Given the description of an element on the screen output the (x, y) to click on. 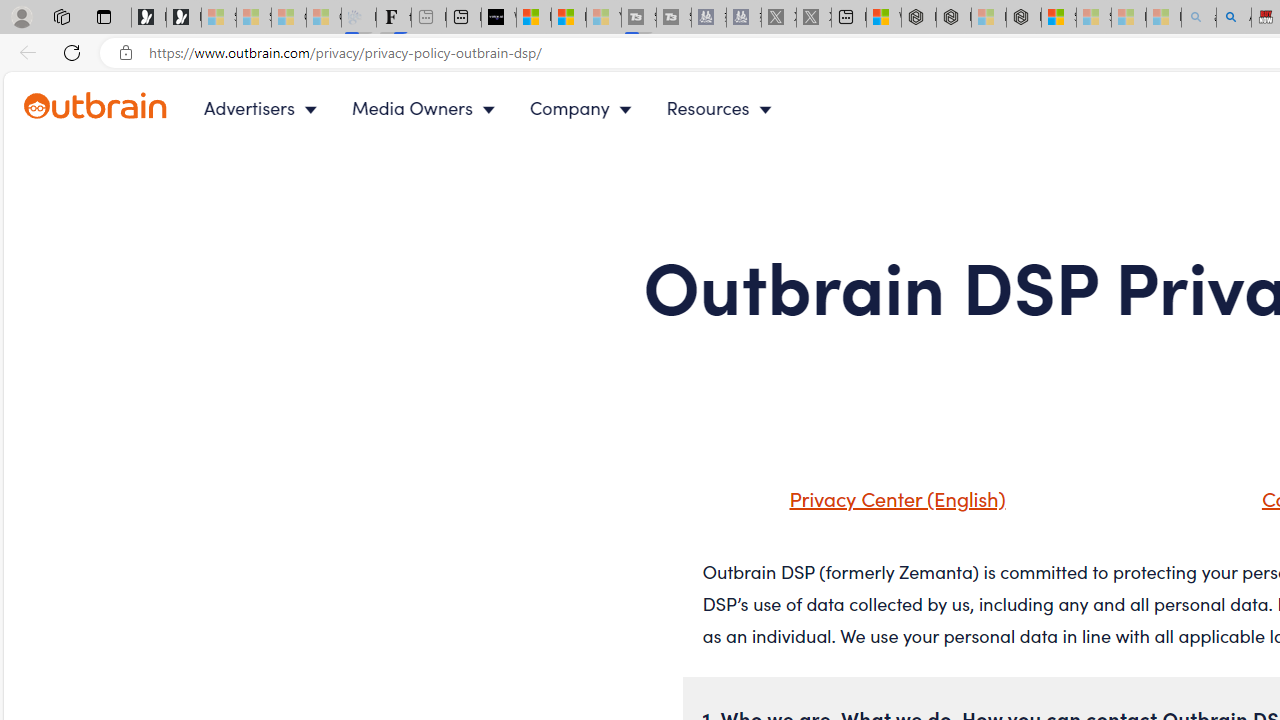
Privacy Center (English) (872, 505)
Main Navigation (504, 107)
Privacy Center (English) (892, 497)
Company (585, 107)
